Given the description of an element on the screen output the (x, y) to click on. 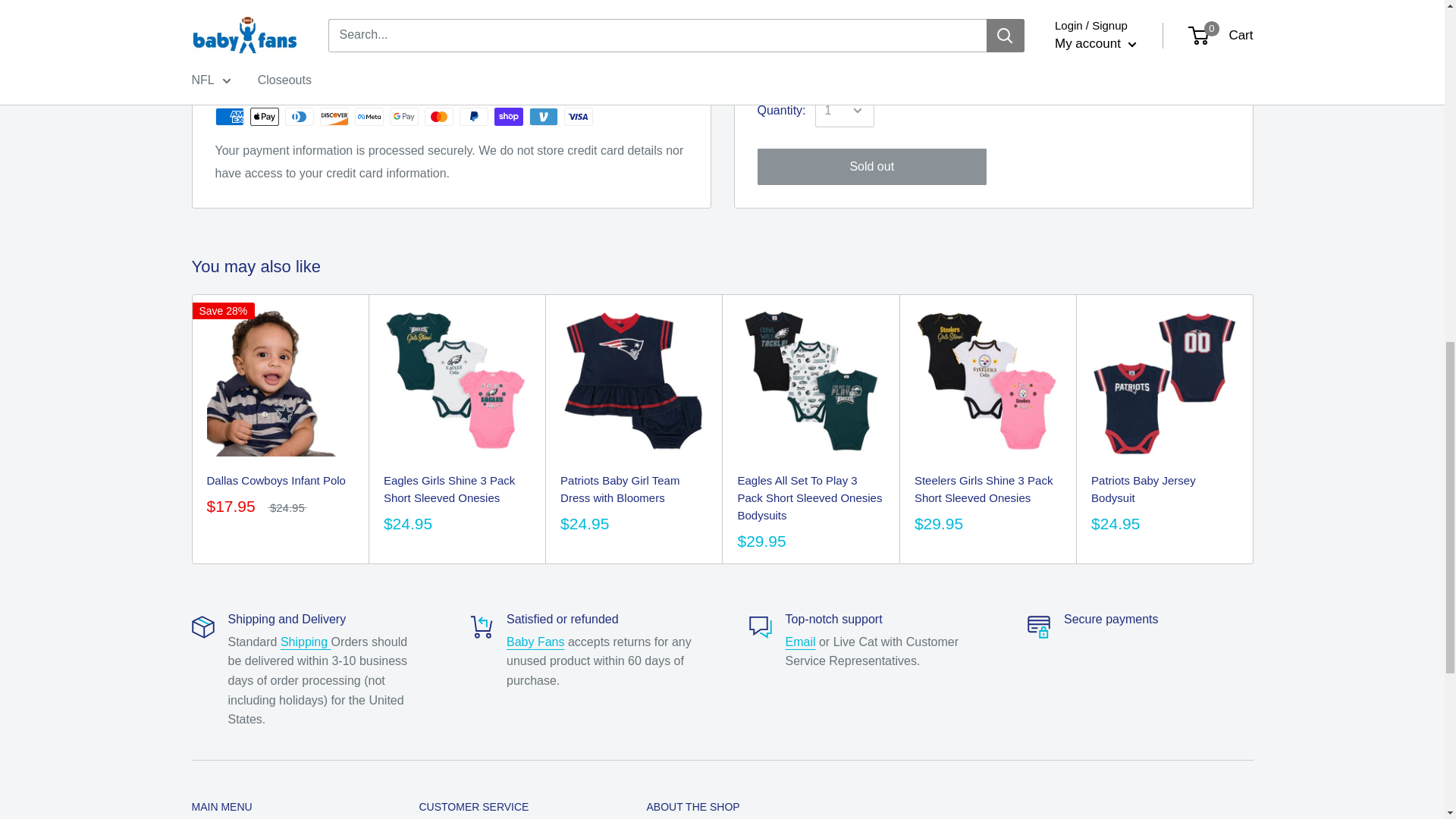
Returns (535, 641)
Shipping Policy (306, 641)
Contact Us (800, 641)
